Given the description of an element on the screen output the (x, y) to click on. 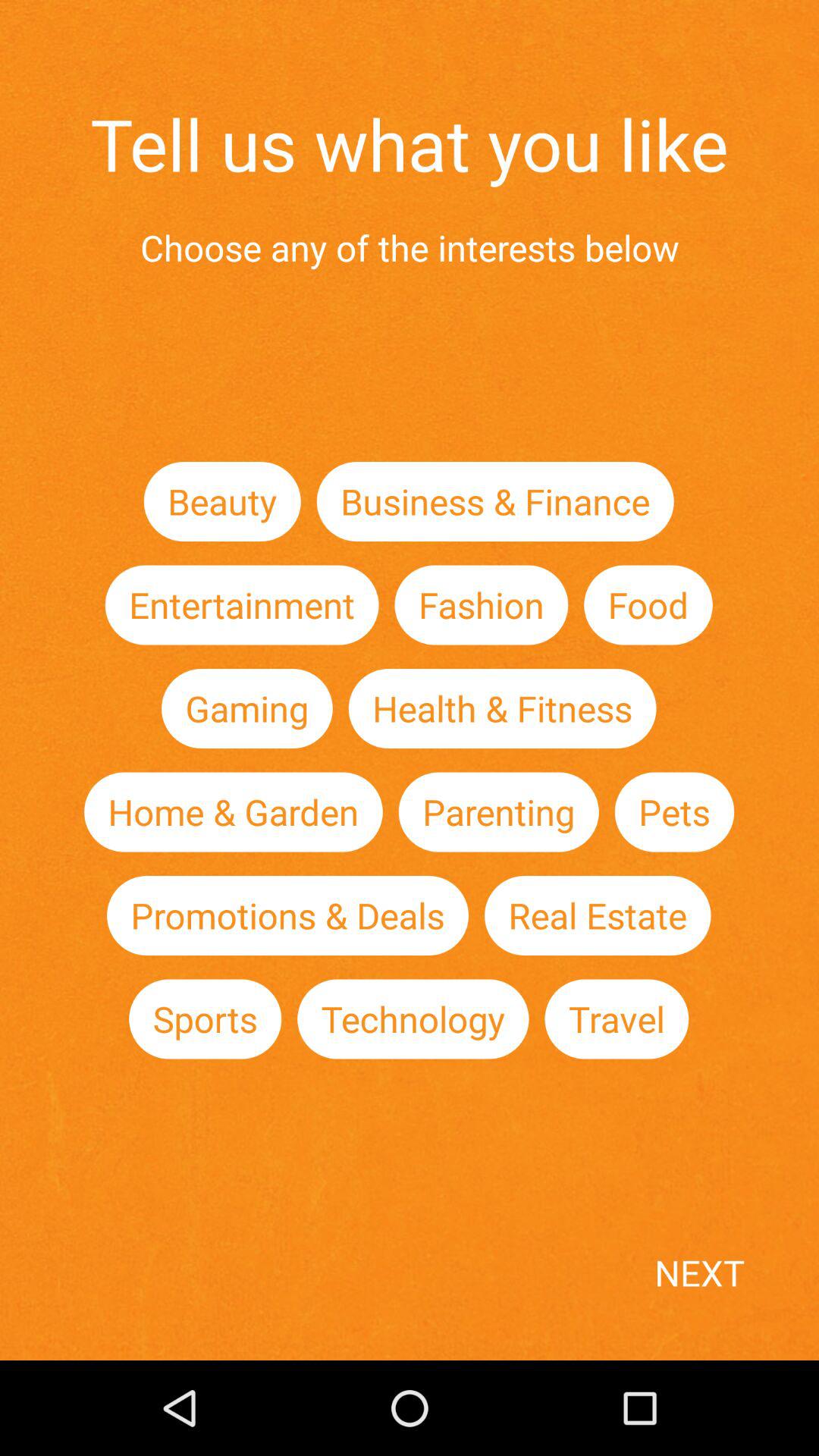
open the item next to health & fitness icon (246, 708)
